Given the description of an element on the screen output the (x, y) to click on. 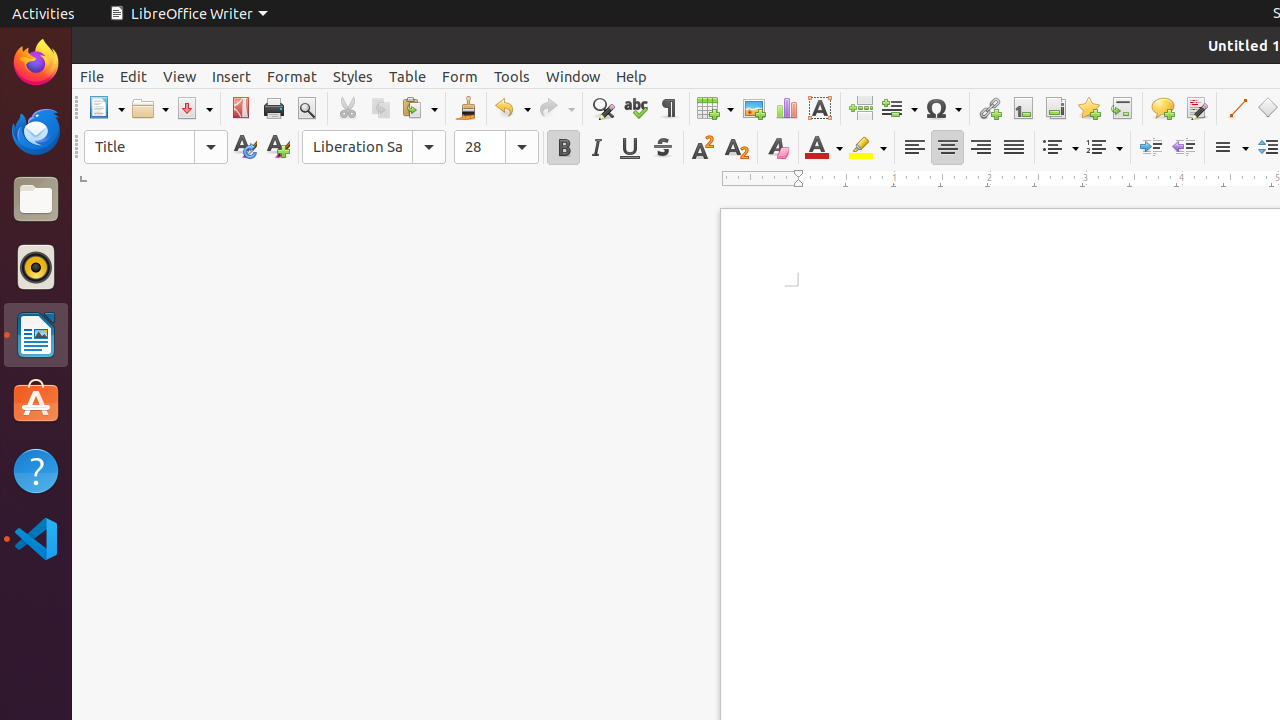
Window Element type: menu (573, 76)
Symbol Element type: push-button (943, 108)
Copy Element type: push-button (380, 108)
Paste Element type: push-button (419, 108)
Rhythmbox Element type: push-button (36, 267)
